Given the description of an element on the screen output the (x, y) to click on. 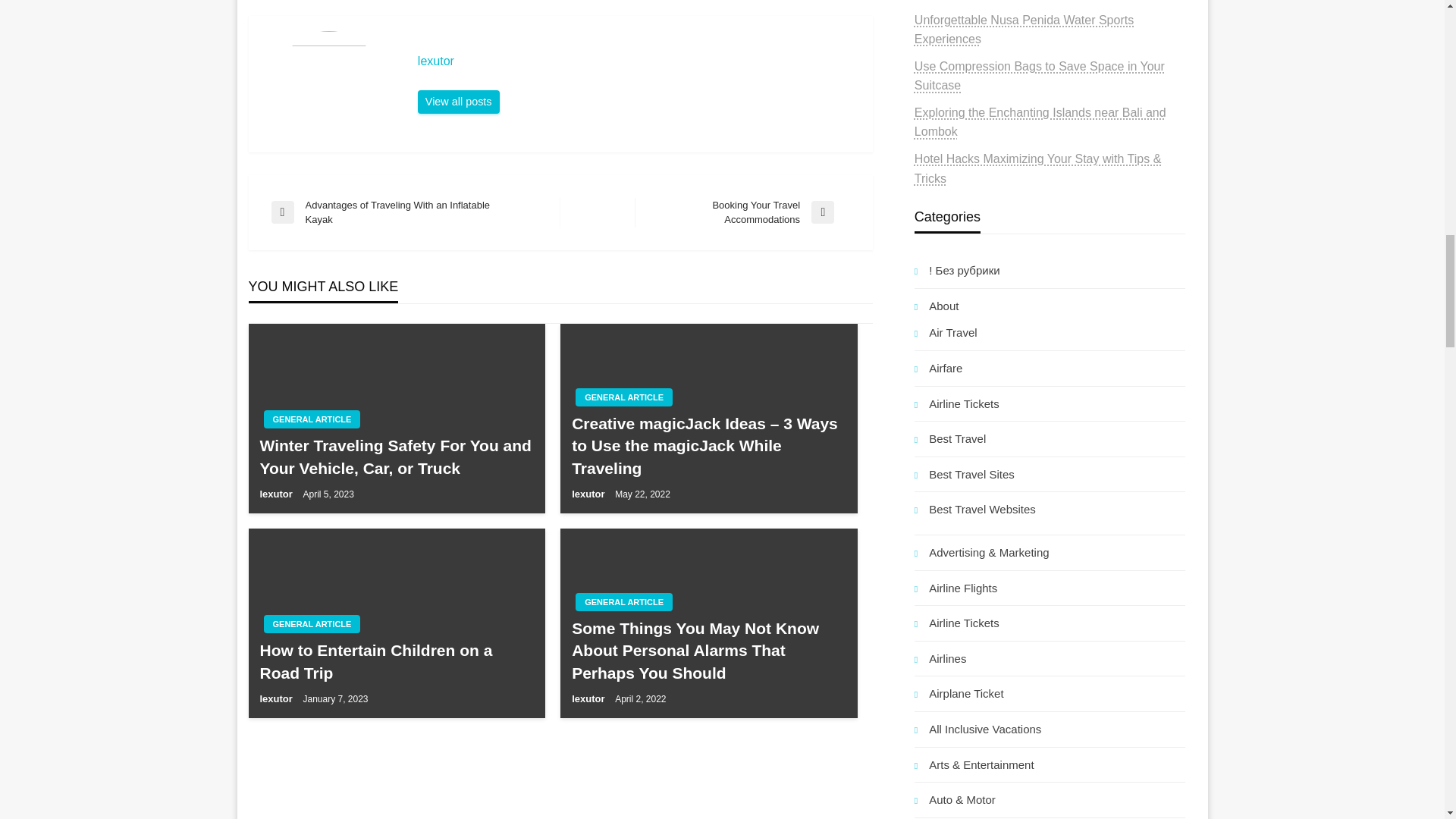
lexutor (637, 61)
lexutor (458, 102)
